Given the description of an element on the screen output the (x, y) to click on. 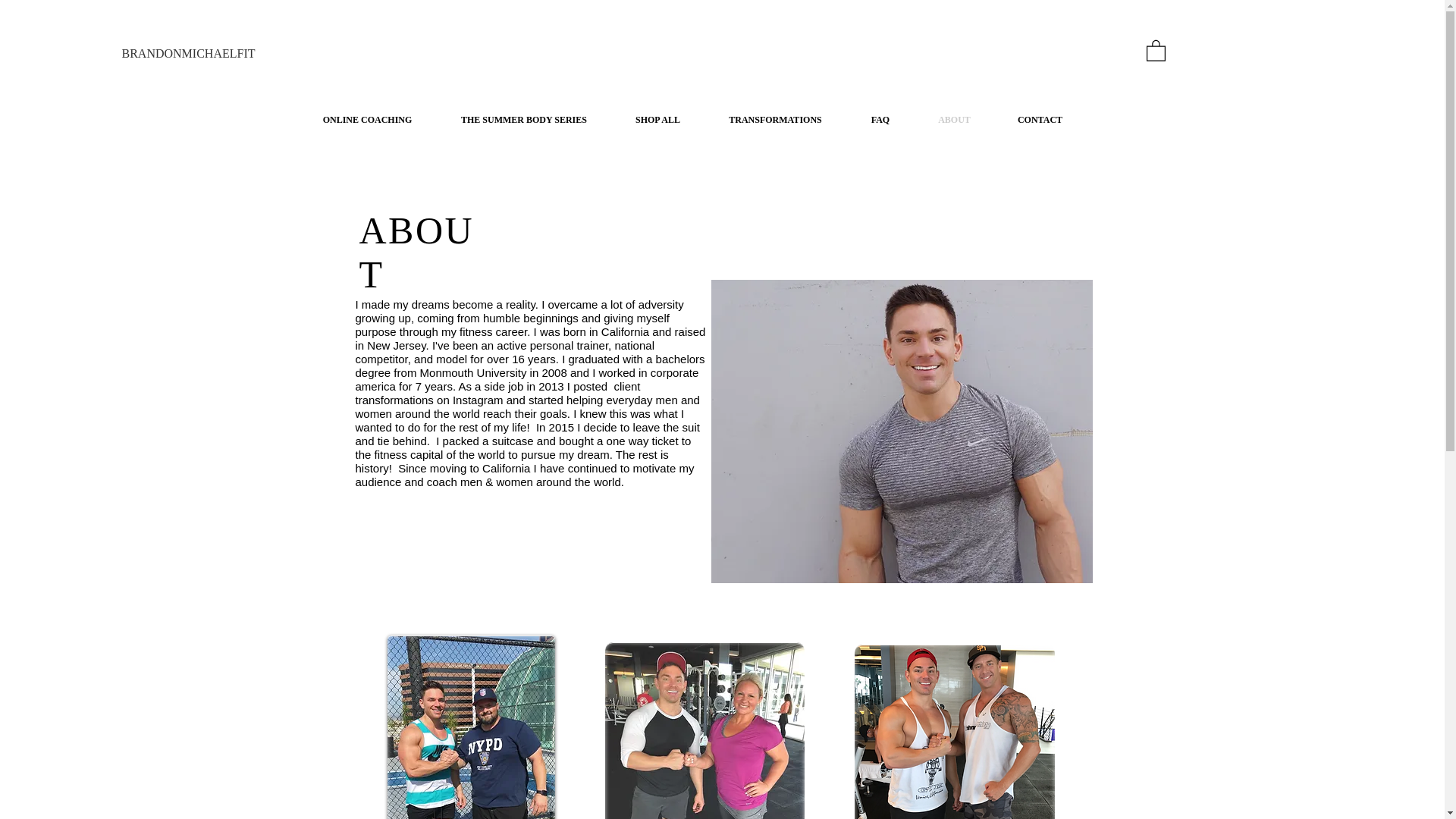
BRANDONMICHAELFIT (187, 52)
CONTACT (1040, 119)
ONLINE COACHING (367, 119)
ABOUT (954, 119)
FAQ (879, 119)
TRANSFORMATIONS (774, 119)
SHOP ALL (657, 119)
About Brandon Michael (902, 431)
